Given the description of an element on the screen output the (x, y) to click on. 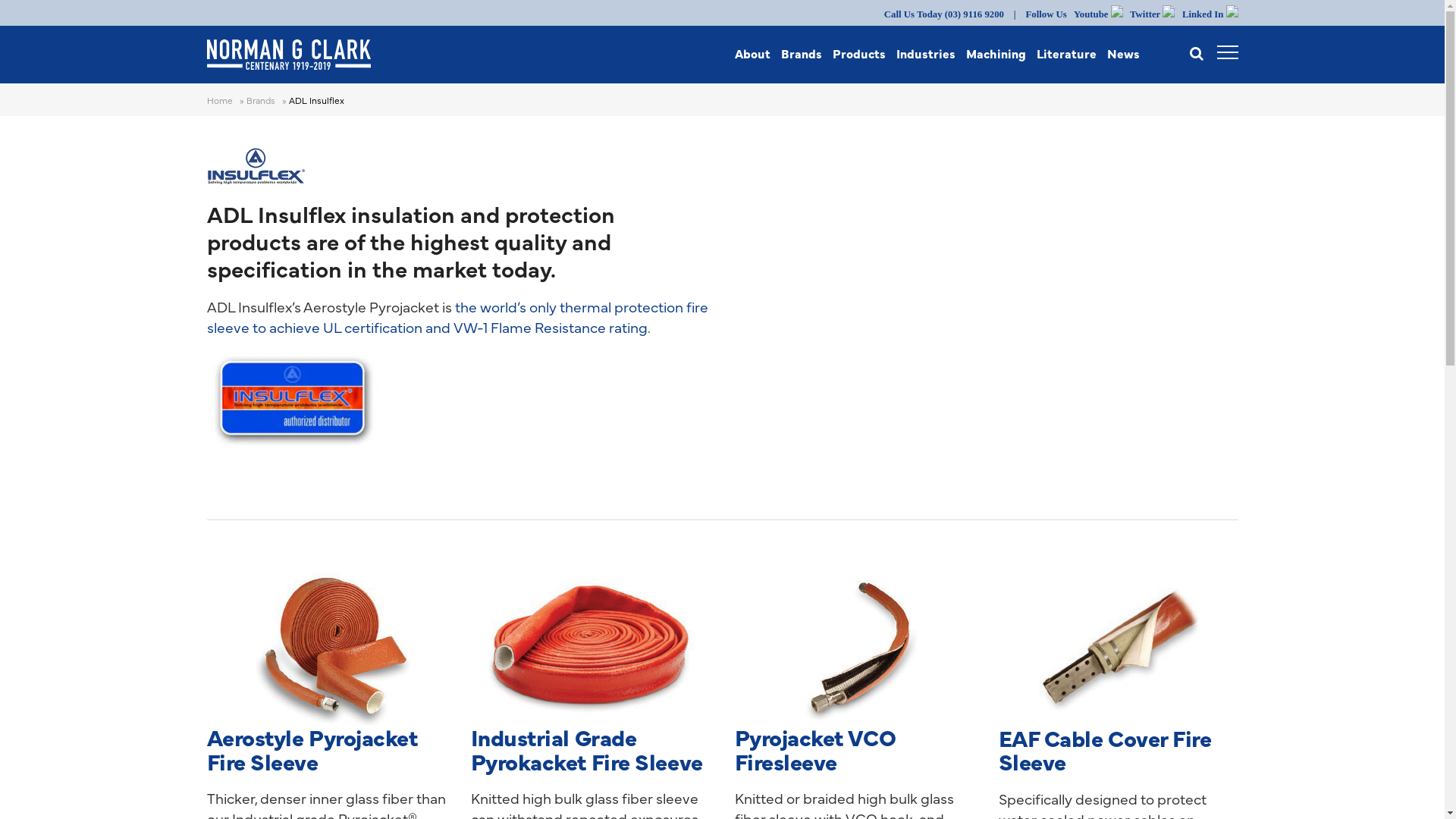
Norman G Clark Element type: hover (335, 54)
Youtube Element type: text (1098, 14)
Machining Element type: text (996, 52)
Literature Element type: text (1065, 52)
Home Element type: text (221, 100)
Linked In Element type: text (1210, 14)
News Element type: text (1123, 52)
Industrial Grade Pyrokacket Fire Sleeve Element type: text (586, 748)
About Element type: text (751, 52)
Brands Element type: text (801, 52)
Products Element type: text (858, 52)
The ADL Insulflex Range Element type: hover (976, 335)
EAF Cable Cover Fire Sleeve Element type: text (1104, 749)
Twitter Element type: text (1151, 14)
Pyrojacket VCO Firesleeve Element type: text (814, 748)
Industries Element type: text (925, 52)
Aerostyle Pyrojacket Fire Sleeve Element type: text (311, 748)
Brands Element type: text (262, 100)
